Given the description of an element on the screen output the (x, y) to click on. 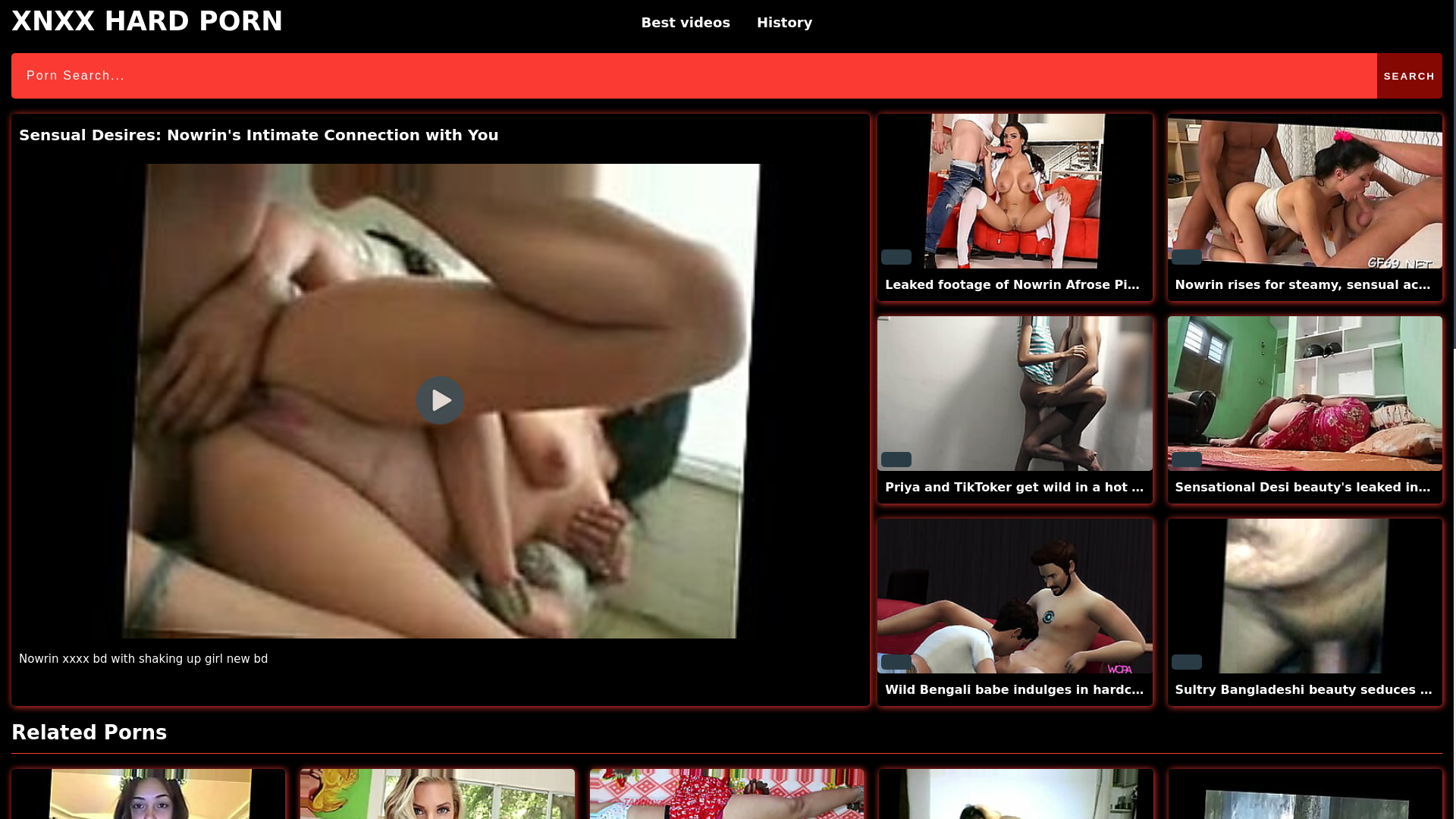
Best videos (686, 22)
XNXX HARD PORN (147, 21)
Wild Bengali babe indulges in hardcore action. (1045, 689)
Leaked footage of Nowrin Afrose Piya in sensual activities. (1086, 284)
SEARCH (1409, 75)
Newrin Afruja's XXX video: Wild and steamy action. (726, 794)
Priya and TikToker get wild in a hot video. (1029, 486)
SEARCH (1409, 75)
Desi cutie gets wild in hot video. (436, 794)
Wild Bengali babe indulges in hardcore action. (1014, 595)
Priya and TikToker get wild in a hot video. (1014, 393)
Sensual Bangladeshi beauty in intimate video (148, 794)
Nowrin rises for steamy, sensual action (1309, 284)
History (784, 22)
Leaked footage of Nowrin Afrose Piya in sensual activities. (1014, 190)
